Given the description of an element on the screen output the (x, y) to click on. 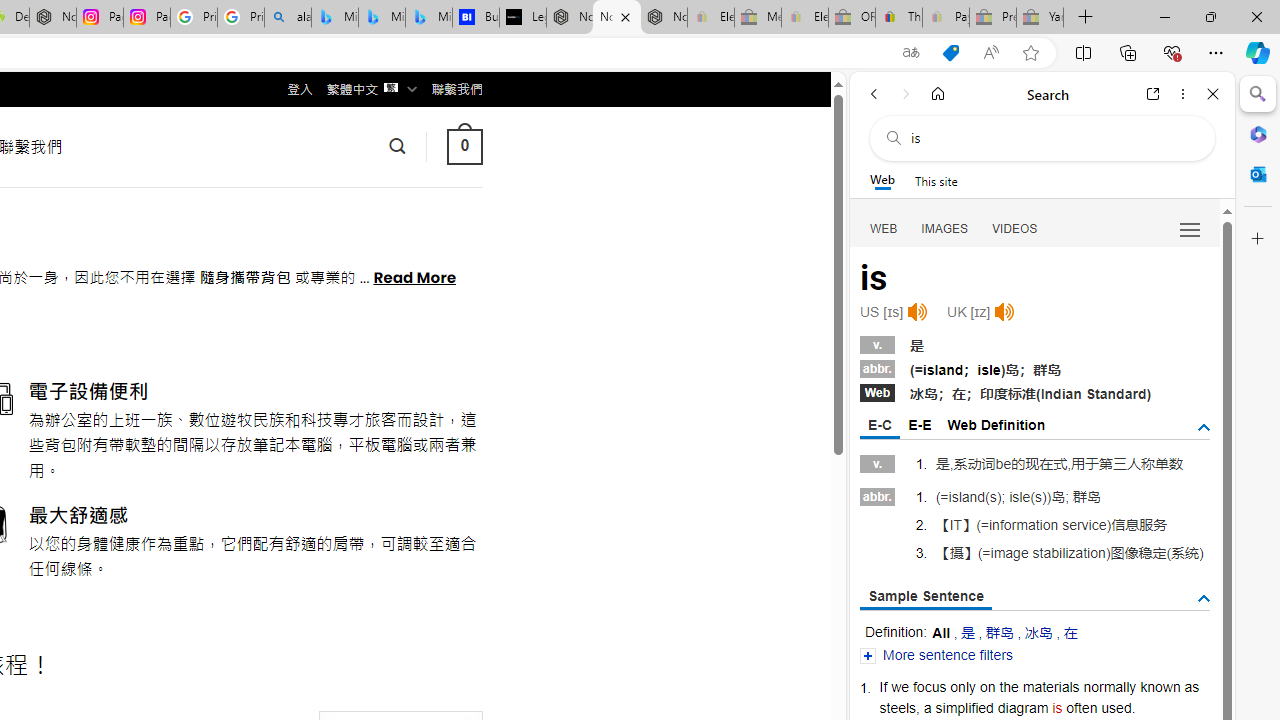
 0  (464, 146)
E-C (880, 426)
, (918, 707)
